Given the description of an element on the screen output the (x, y) to click on. 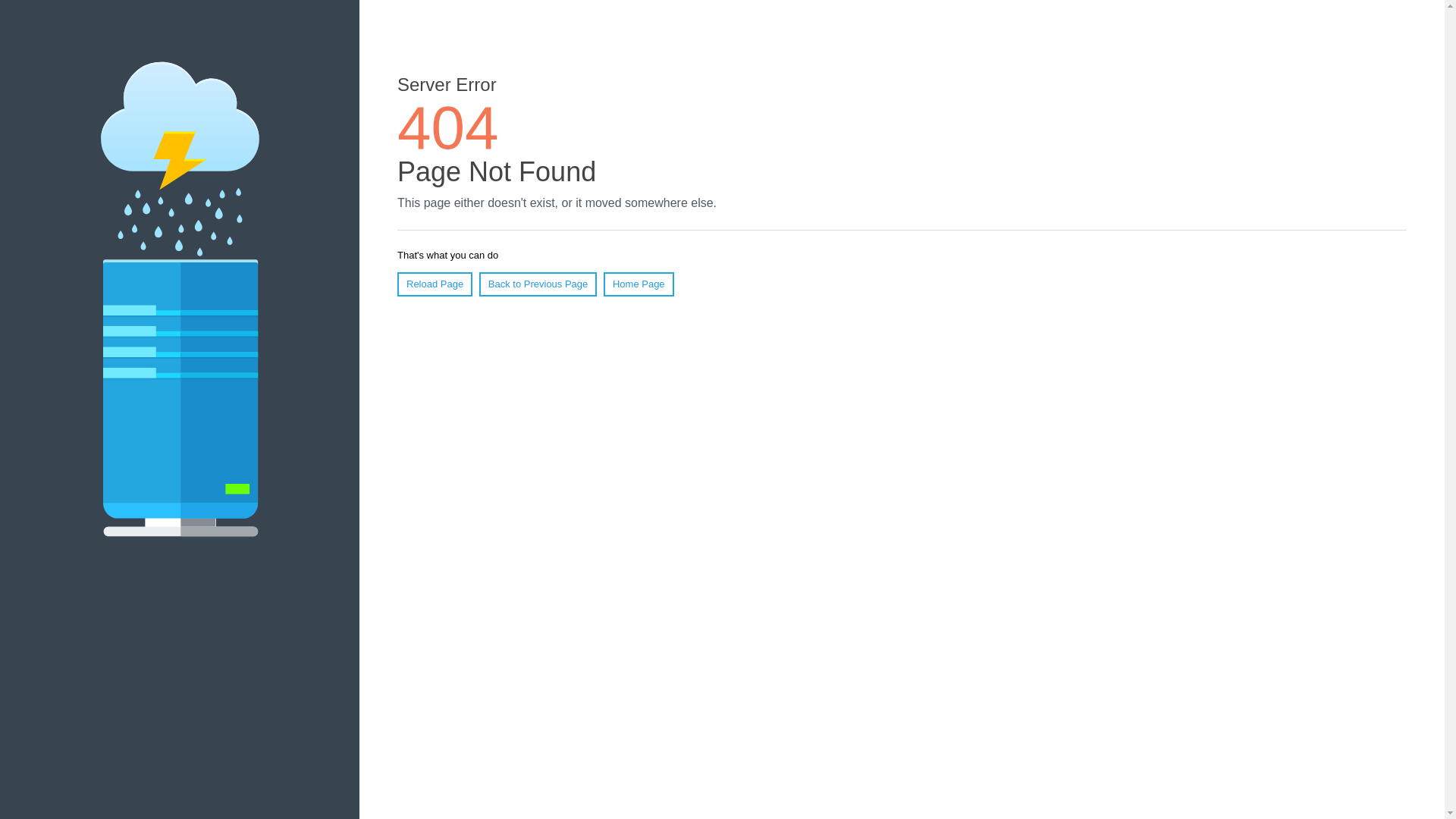
Home Page Element type: text (638, 284)
Reload Page Element type: text (434, 284)
Back to Previous Page Element type: text (538, 284)
